Given the description of an element on the screen output the (x, y) to click on. 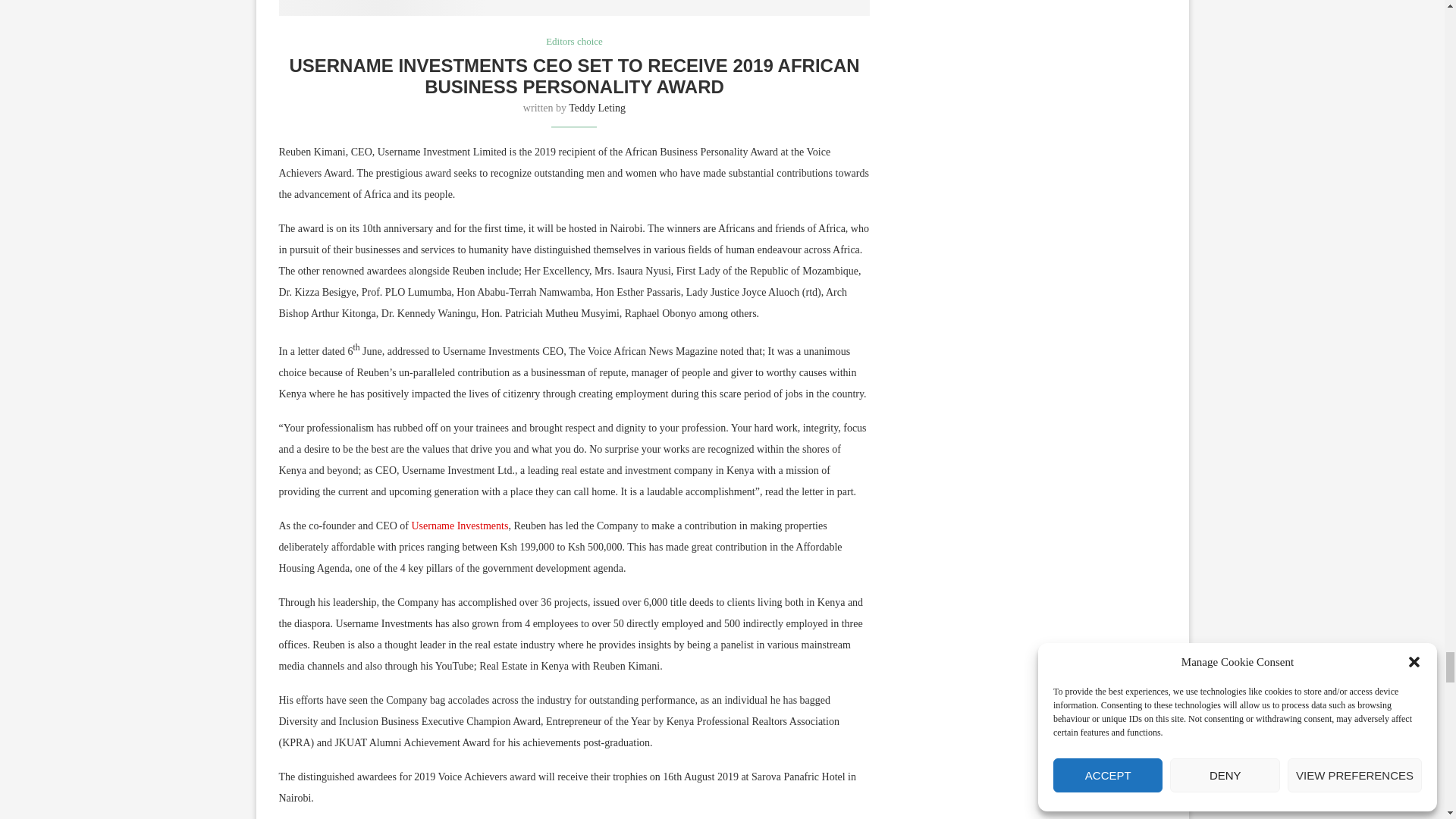
Reuben Kimani, Chief Executive Officer, Username Investments (574, 7)
